Given the description of an element on the screen output the (x, y) to click on. 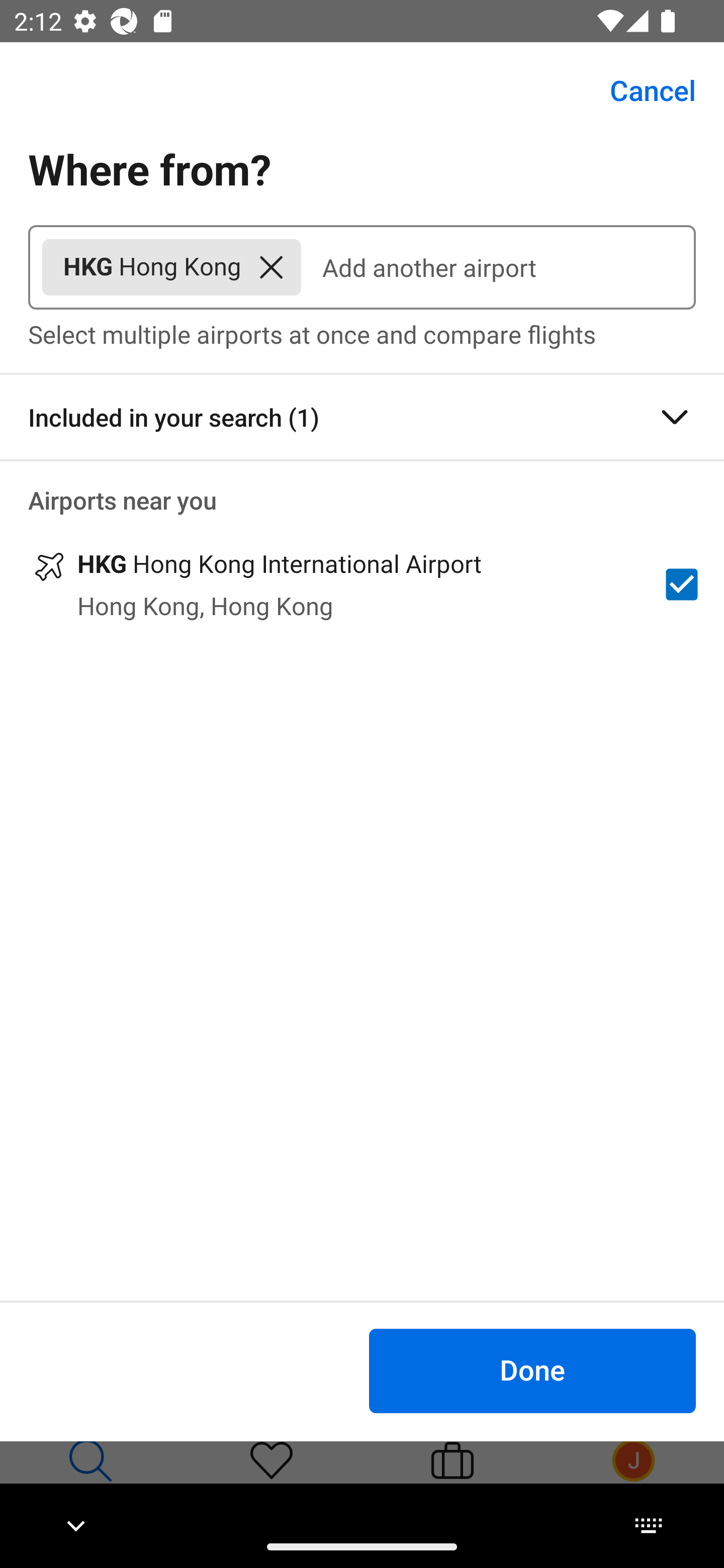
Cancel (641, 90)
Add another airport (498, 266)
HKG Hong Kong Remove HKG Hong Kong (171, 266)
Included in your search (1) (362, 416)
Done (532, 1370)
